Given the description of an element on the screen output the (x, y) to click on. 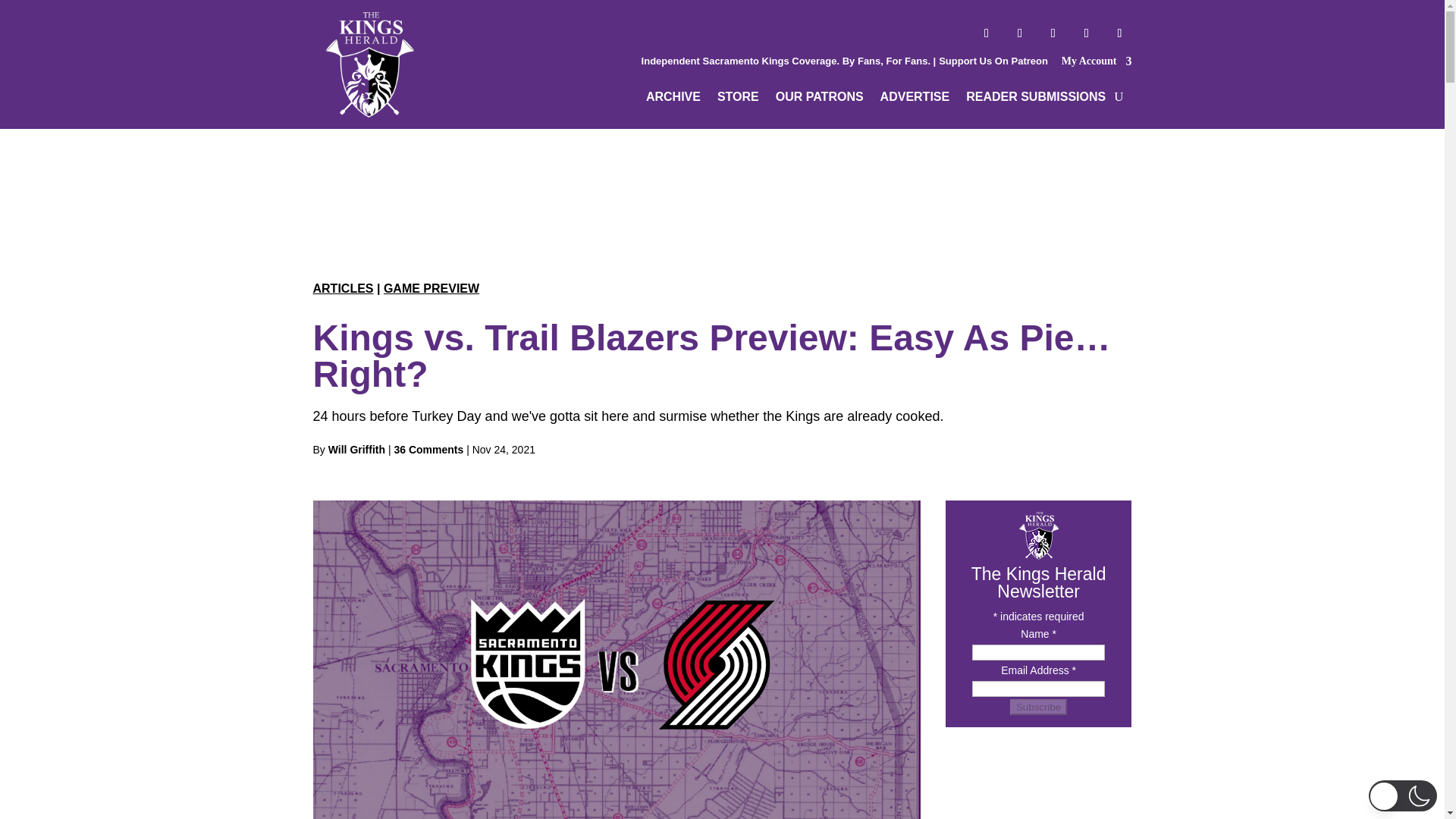
Support Us On Patreon (993, 60)
My Account (1096, 65)
Follow on Instagram (1053, 33)
ARTICLES (342, 287)
Follow on TikTok (1118, 33)
Advertisement (721, 191)
Follow on Youtube (1086, 33)
ADVERTISE (915, 98)
Follow on Facebook (986, 33)
Follow on Twitter (1019, 33)
The Kings Herald (369, 64)
Subscribe (1038, 706)
Support Us On Patreon (993, 60)
Will Griffith (357, 449)
